Given the description of an element on the screen output the (x, y) to click on. 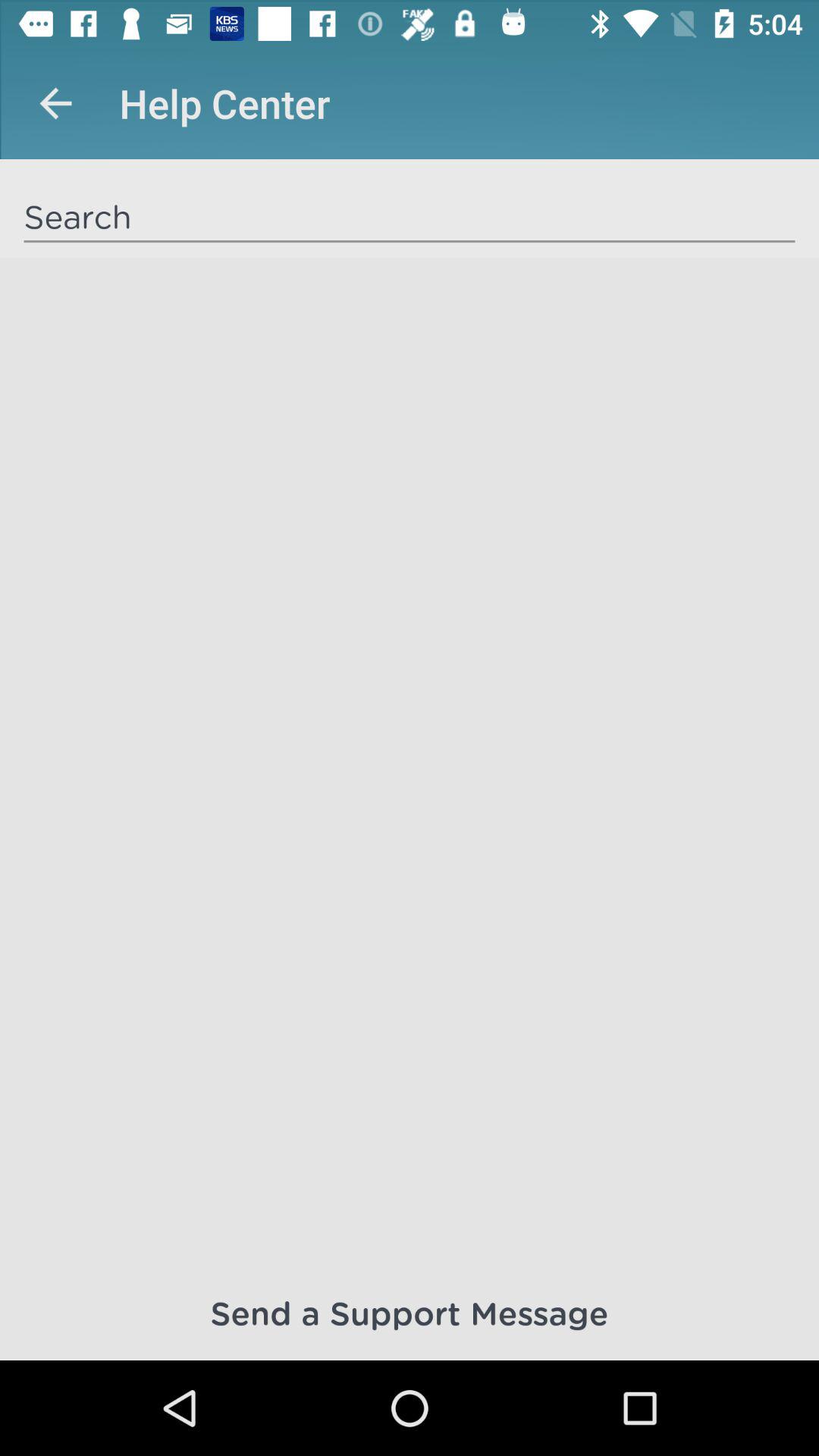
launch the send a support (409, 1312)
